Given the description of an element on the screen output the (x, y) to click on. 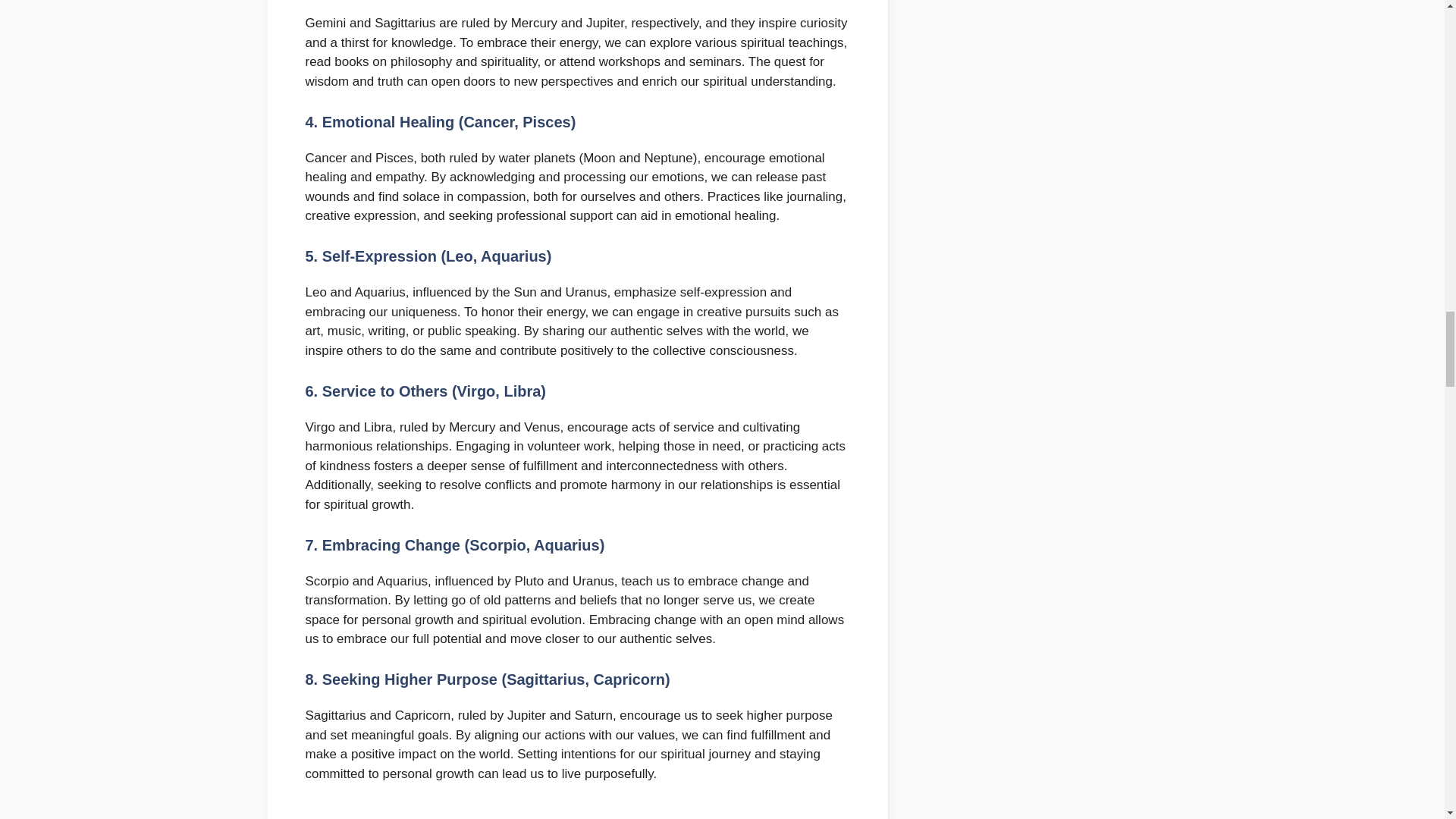
Also Read:  Biblical Meaning of a Child Dying in a Dream (576, 811)
